Given the description of an element on the screen output the (x, y) to click on. 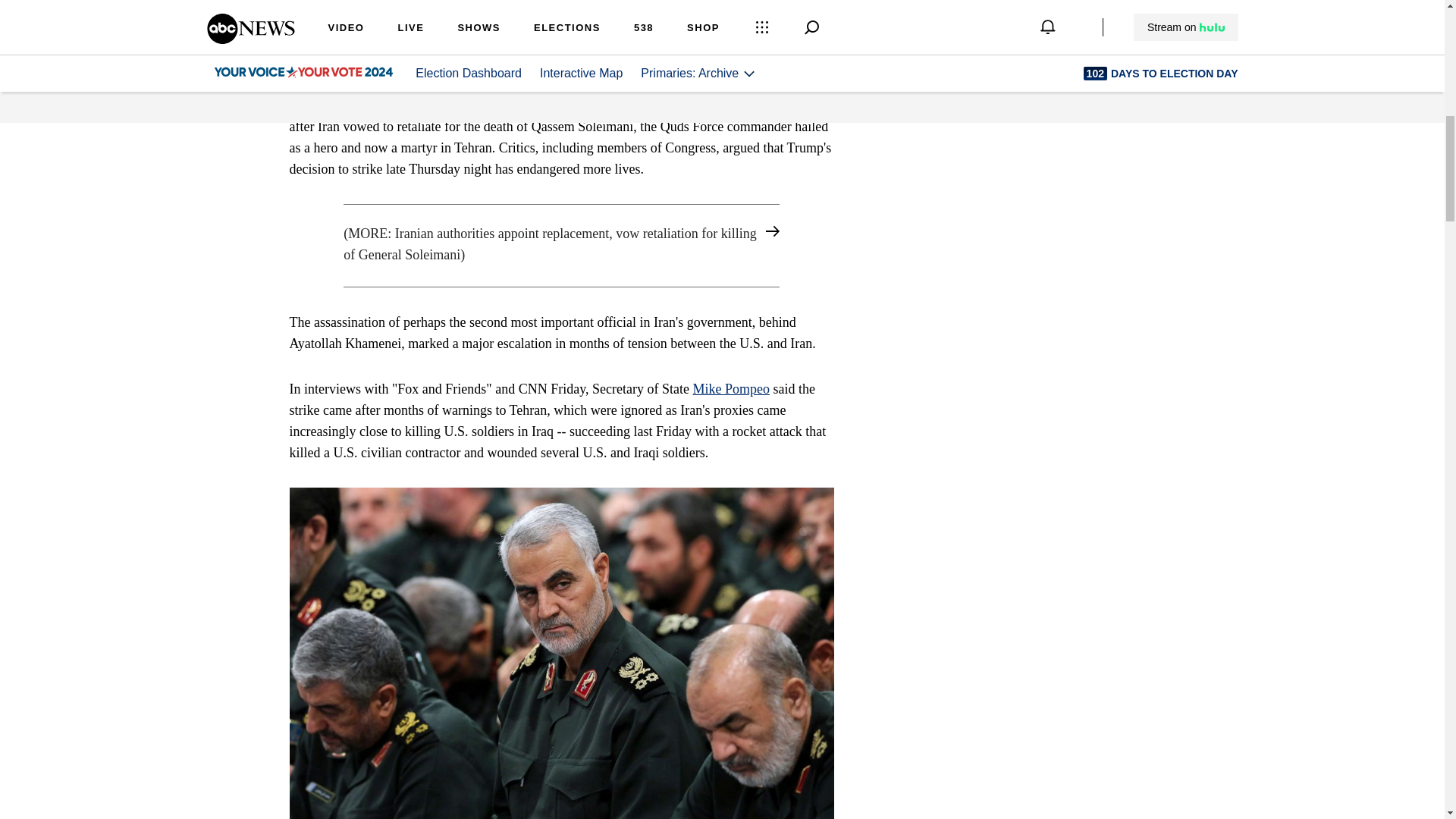
Mike Pompeo (731, 388)
